Given the description of an element on the screen output the (x, y) to click on. 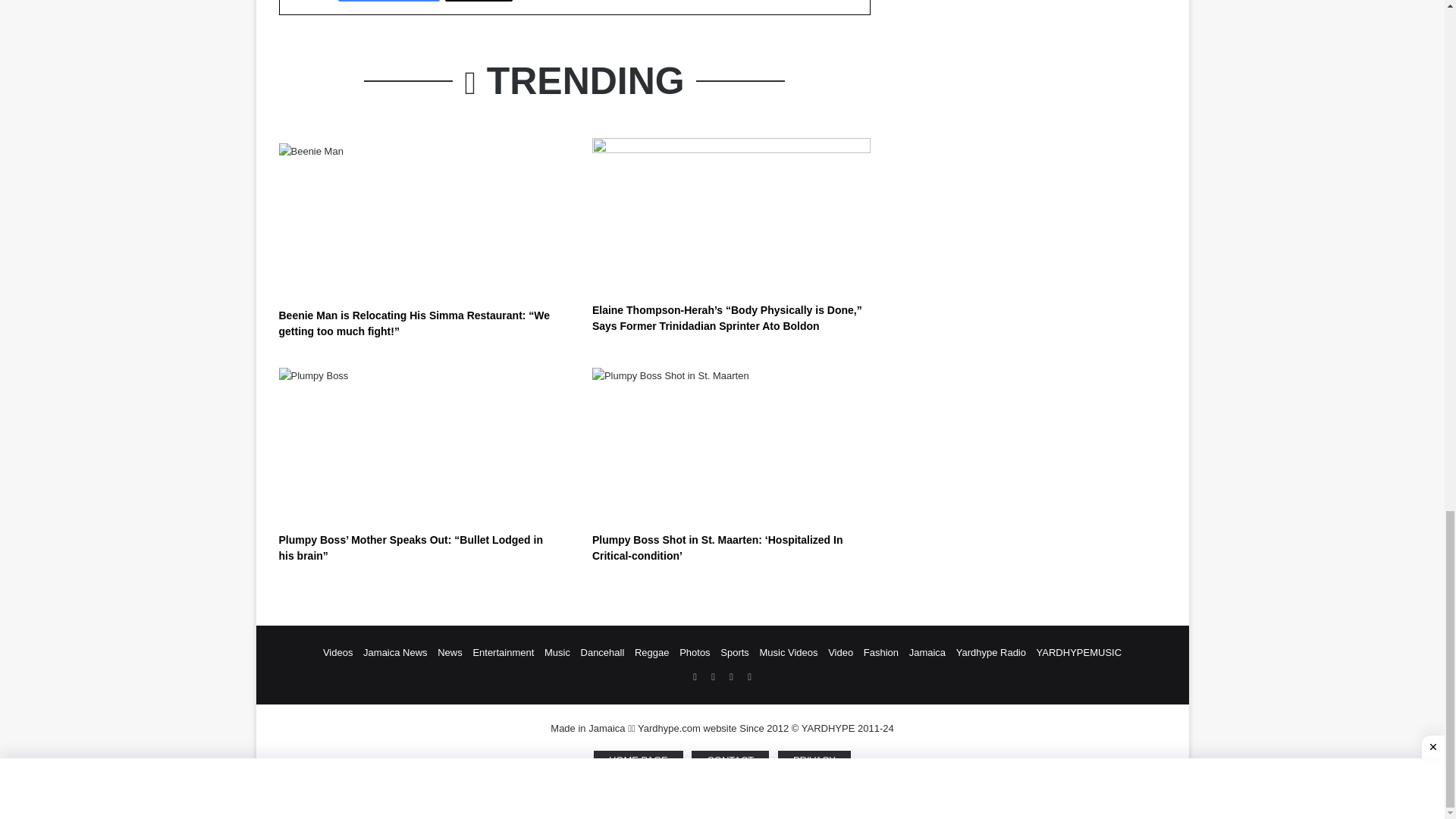
Facebook (388, 0)
X (478, 0)
